Given the description of an element on the screen output the (x, y) to click on. 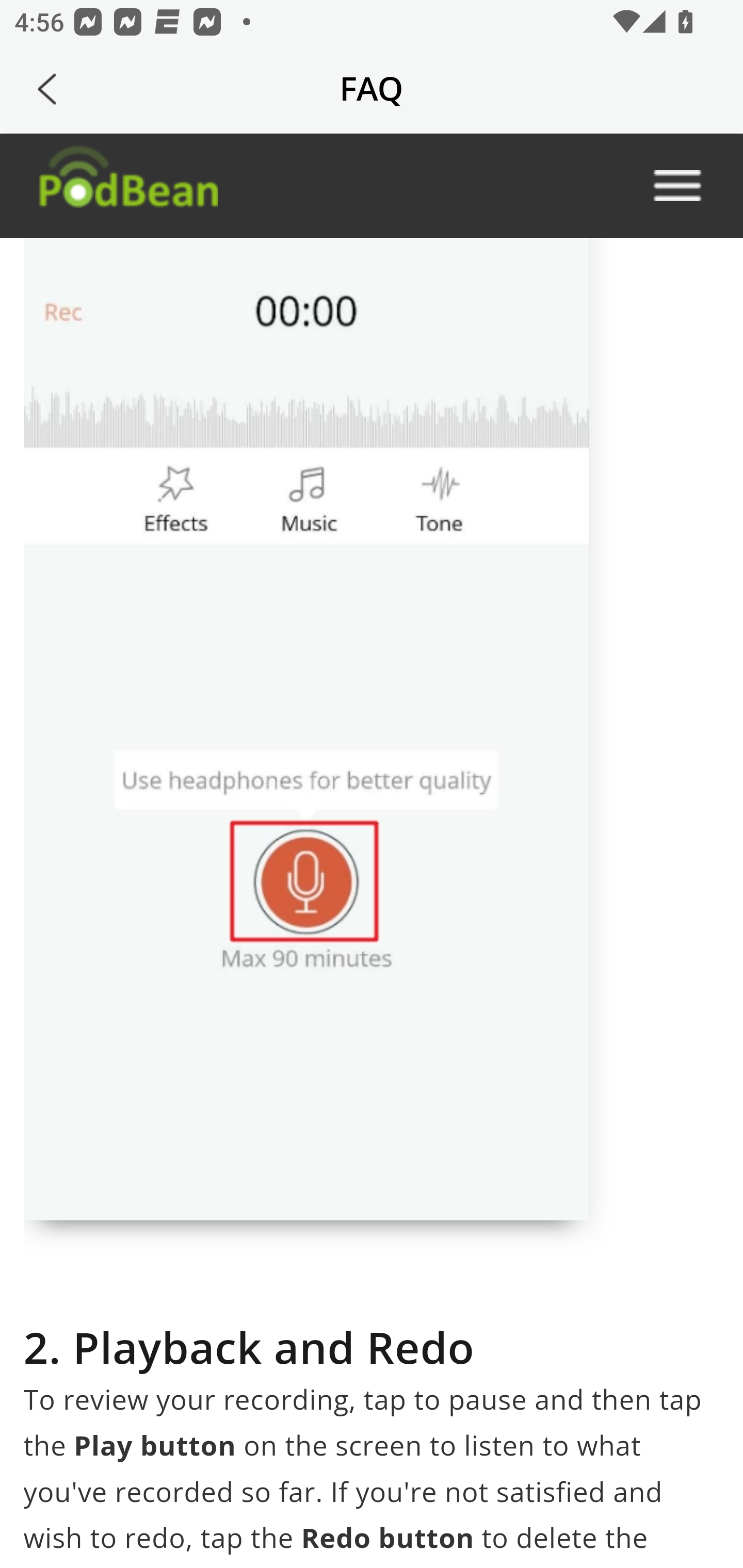
Back (46, 88)
Logo (127, 186)
